Given the description of an element on the screen output the (x, y) to click on. 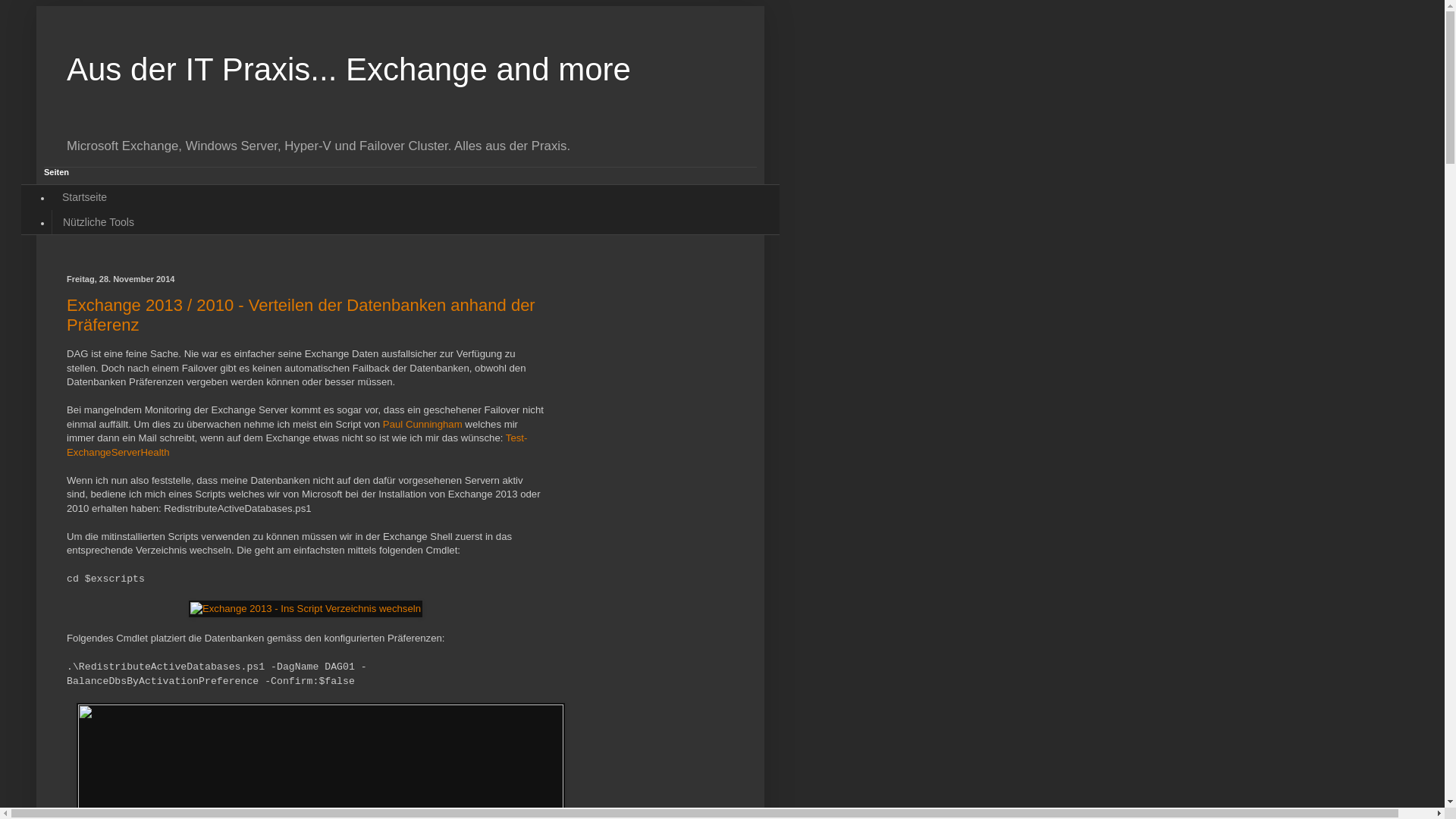
Paul Cunningham Element type: text (422, 423)
Exchange 2013 - Ins Script Verzeichnis wechseln Element type: hover (305, 608)
Startseite Element type: text (84, 197)
Test-ExchangeServerHealth Element type: text (296, 444)
Aus der IT Praxis... Exchange and more Element type: text (348, 69)
